Given the description of an element on the screen output the (x, y) to click on. 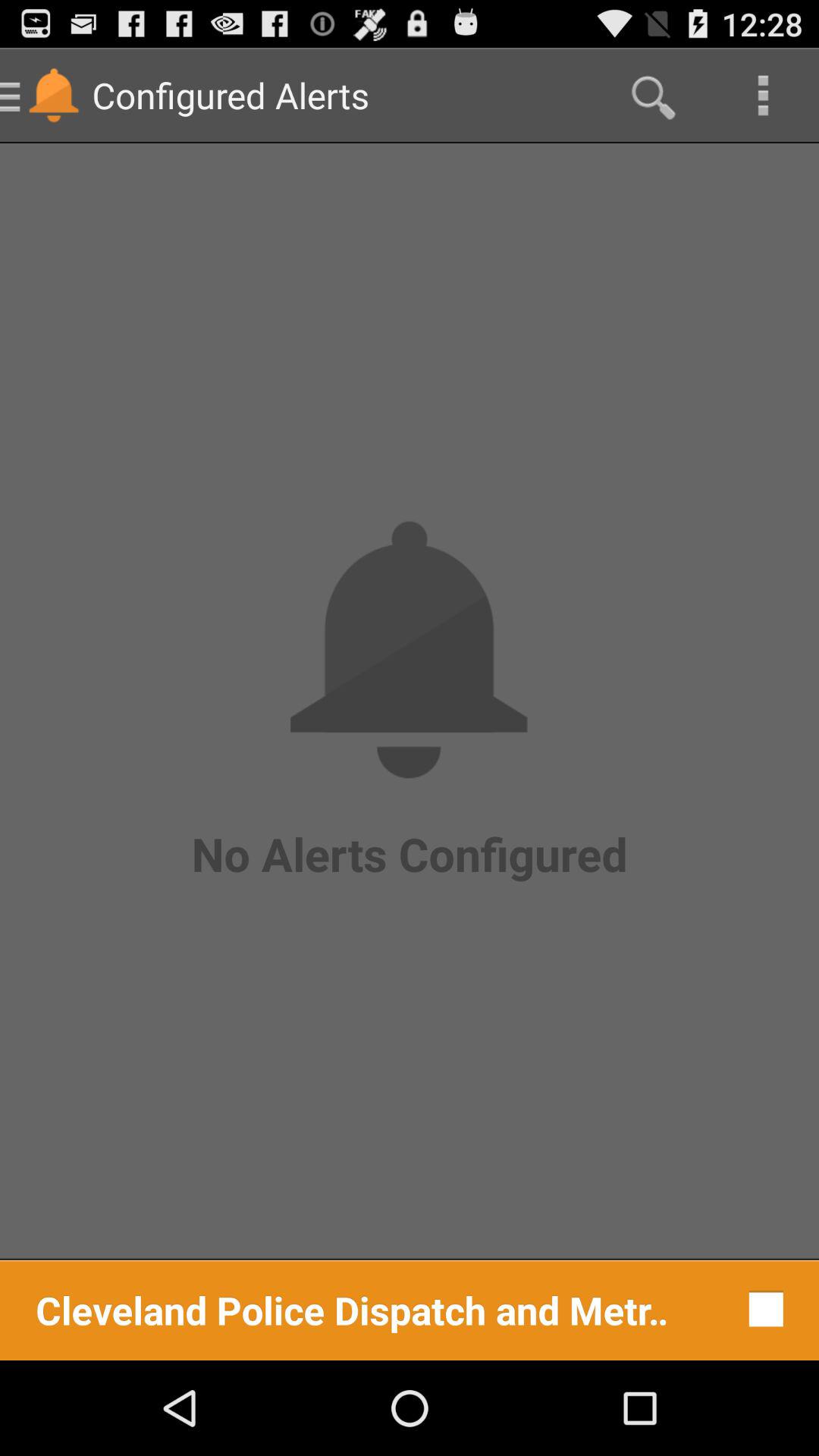
select the app below the no alerts configured item (762, 1309)
